Given the description of an element on the screen output the (x, y) to click on. 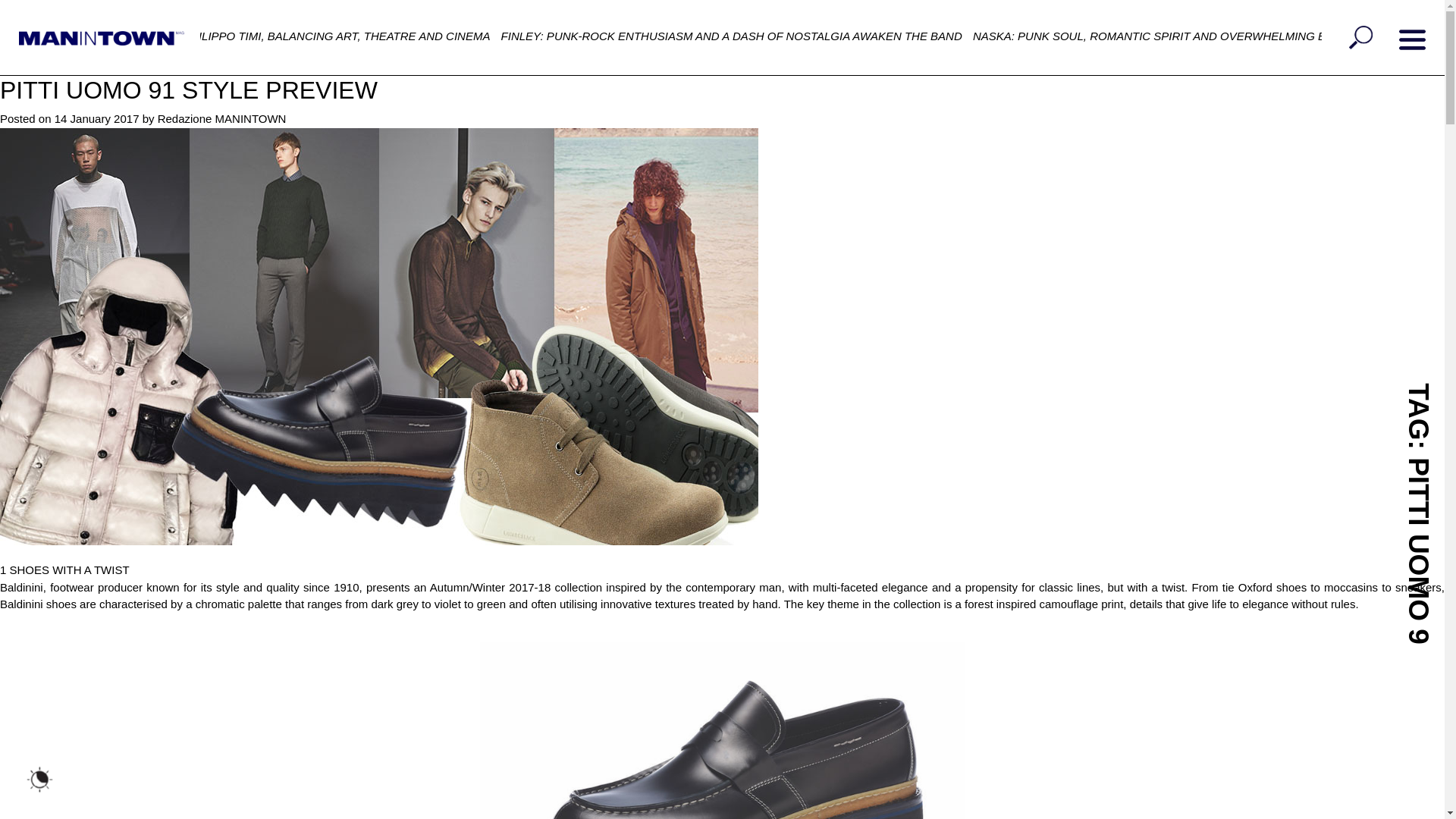
NASKA: PUNK SOUL, ROMANTIC SPIRIT AND OVERWHELMING ENERGY (1168, 35)
Primary Menu (1412, 39)
Redazione MANINTOWN (221, 118)
FILIPPO TIMI, BALANCING ART, THEATRE AND CINEMA (341, 35)
14 January 2017 (97, 118)
PITTI UOMO 91 STYLE PREVIEW (188, 90)
